Given the description of an element on the screen output the (x, y) to click on. 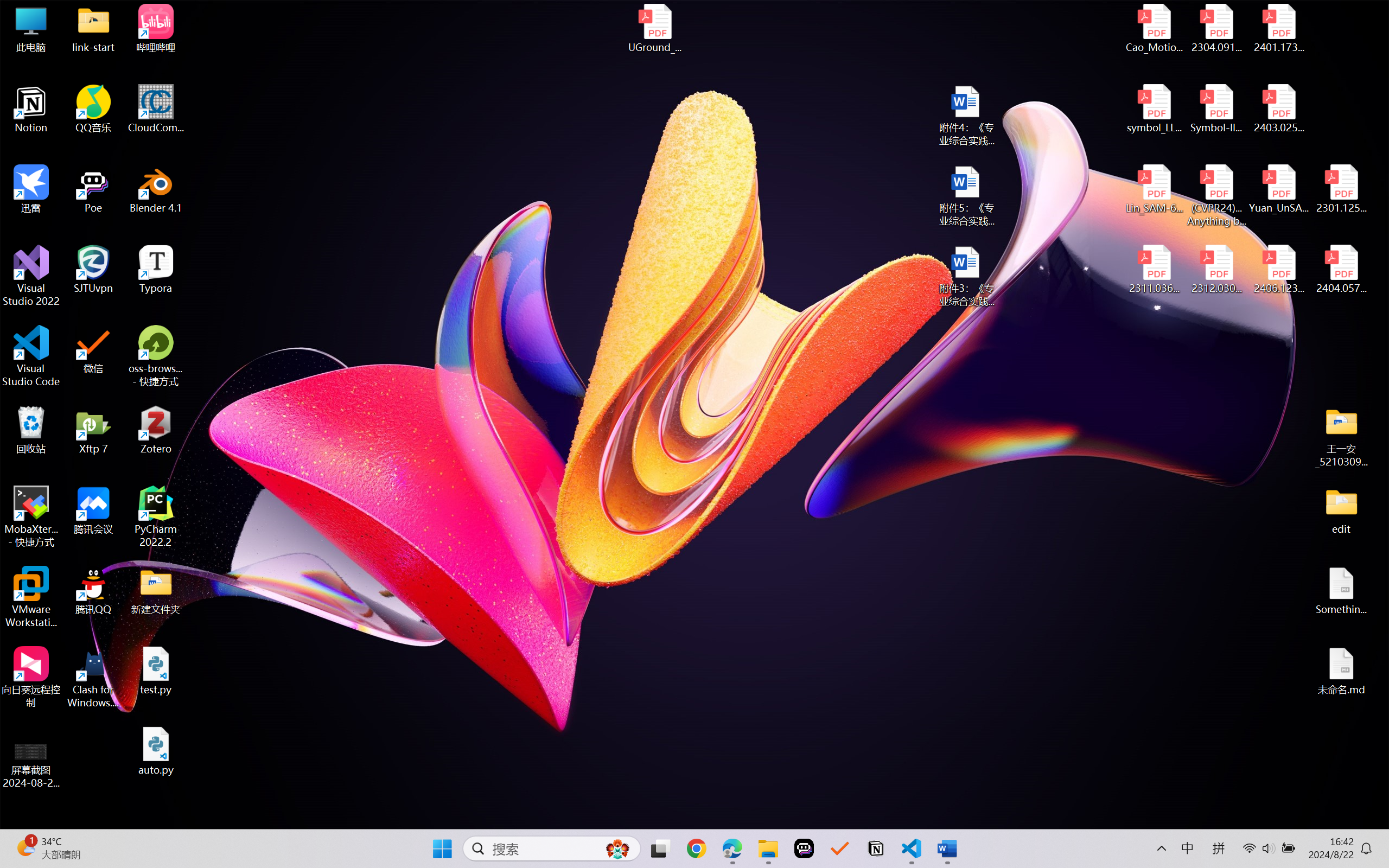
UGround_paper.pdf (654, 28)
PyCharm 2022.2 (156, 516)
2403.02502v1.pdf (1278, 109)
test.py (156, 670)
